Given the description of an element on the screen output the (x, y) to click on. 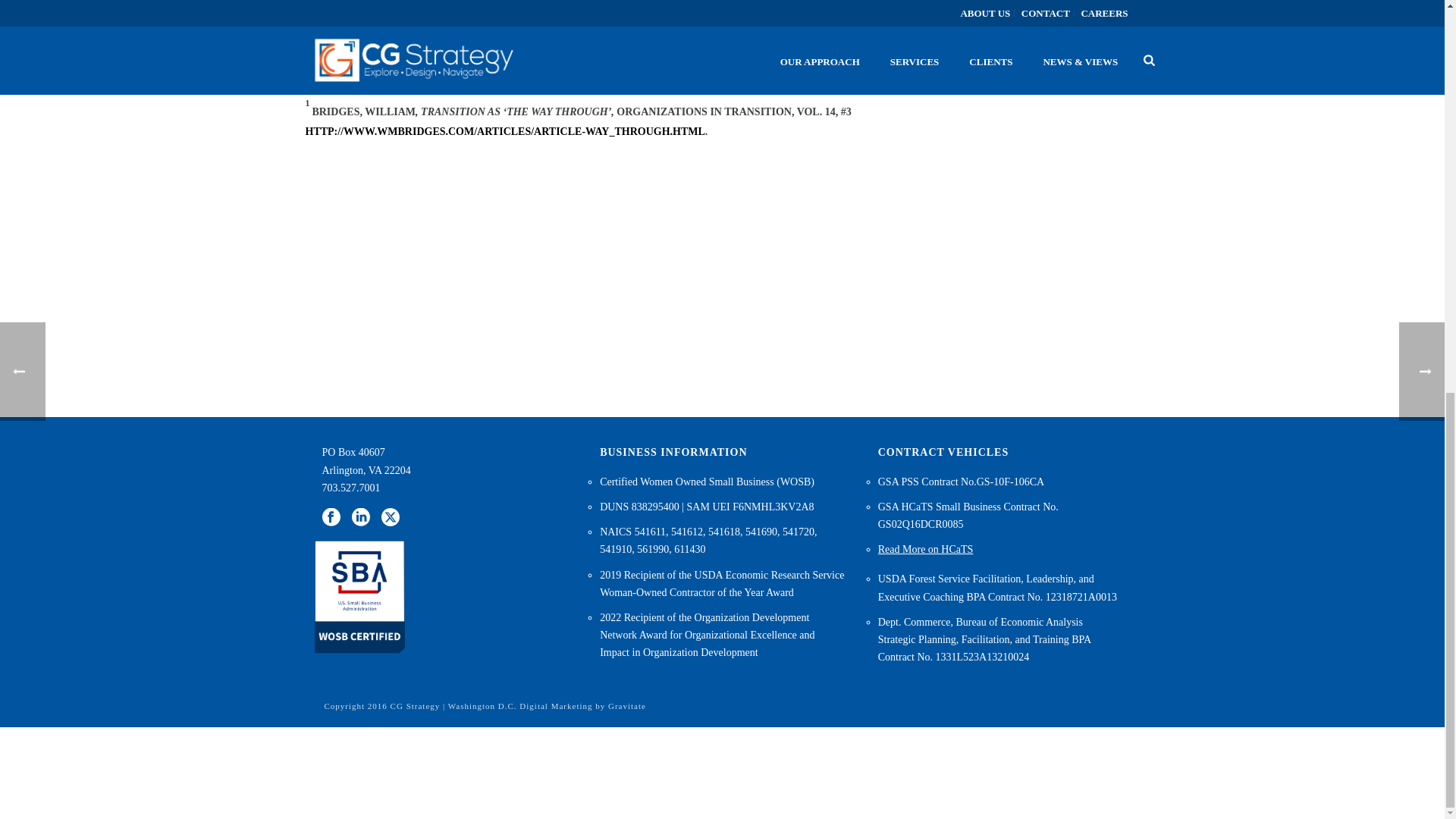
 linkedin (360, 517)
Read More on HCaTS (925, 549)
 twitter (389, 517)
 facebook (330, 517)
